Given the description of an element on the screen output the (x, y) to click on. 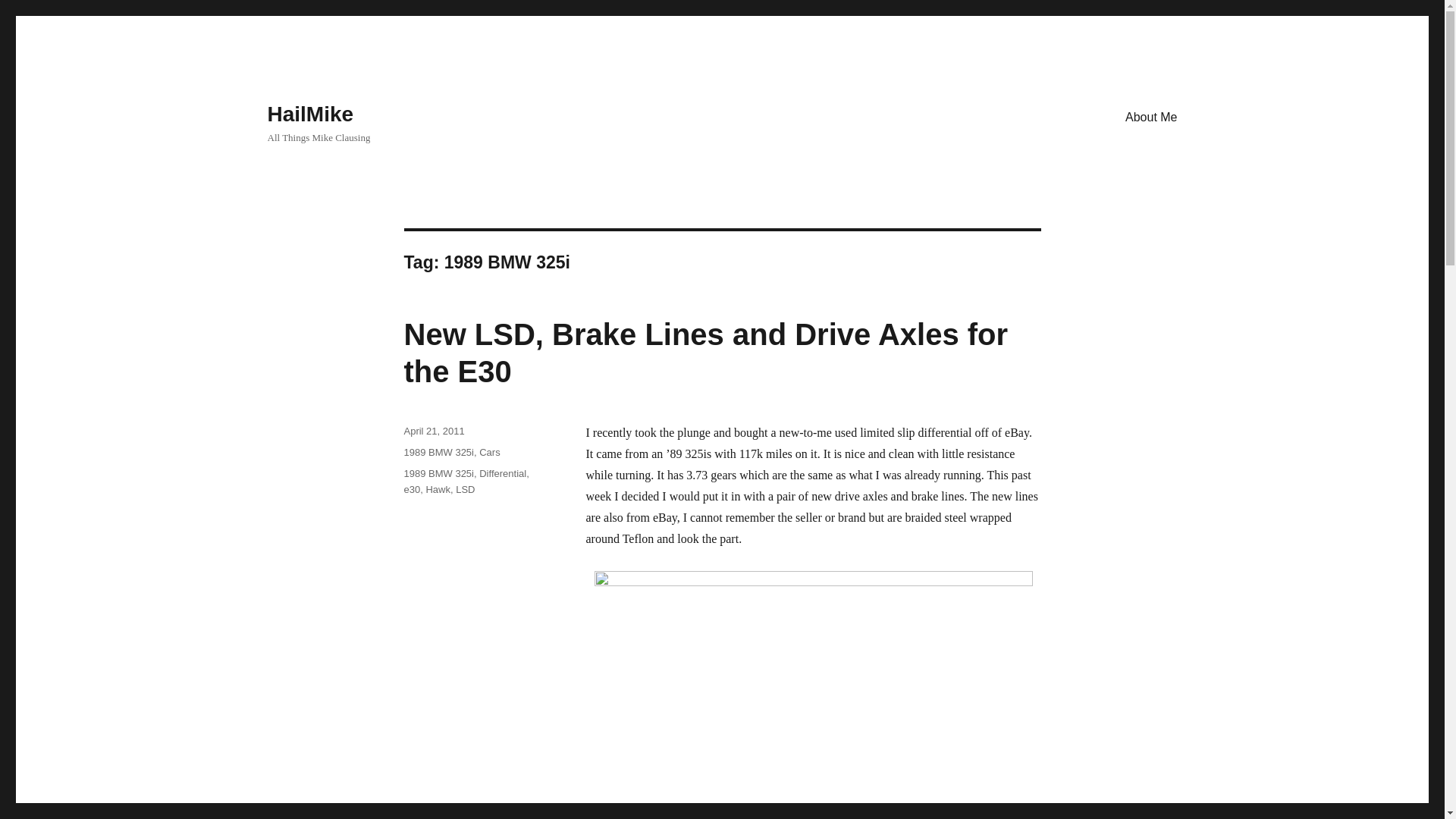
About Me (1151, 116)
e30 (411, 489)
Old vs New (813, 694)
1989 BMW 325i (438, 473)
New LSD, Brake Lines and Drive Axles for the E30 (705, 352)
Hawk (437, 489)
HailMike (309, 114)
1989 BMW 325i (438, 451)
Cars (489, 451)
Differential (502, 473)
